Given the description of an element on the screen output the (x, y) to click on. 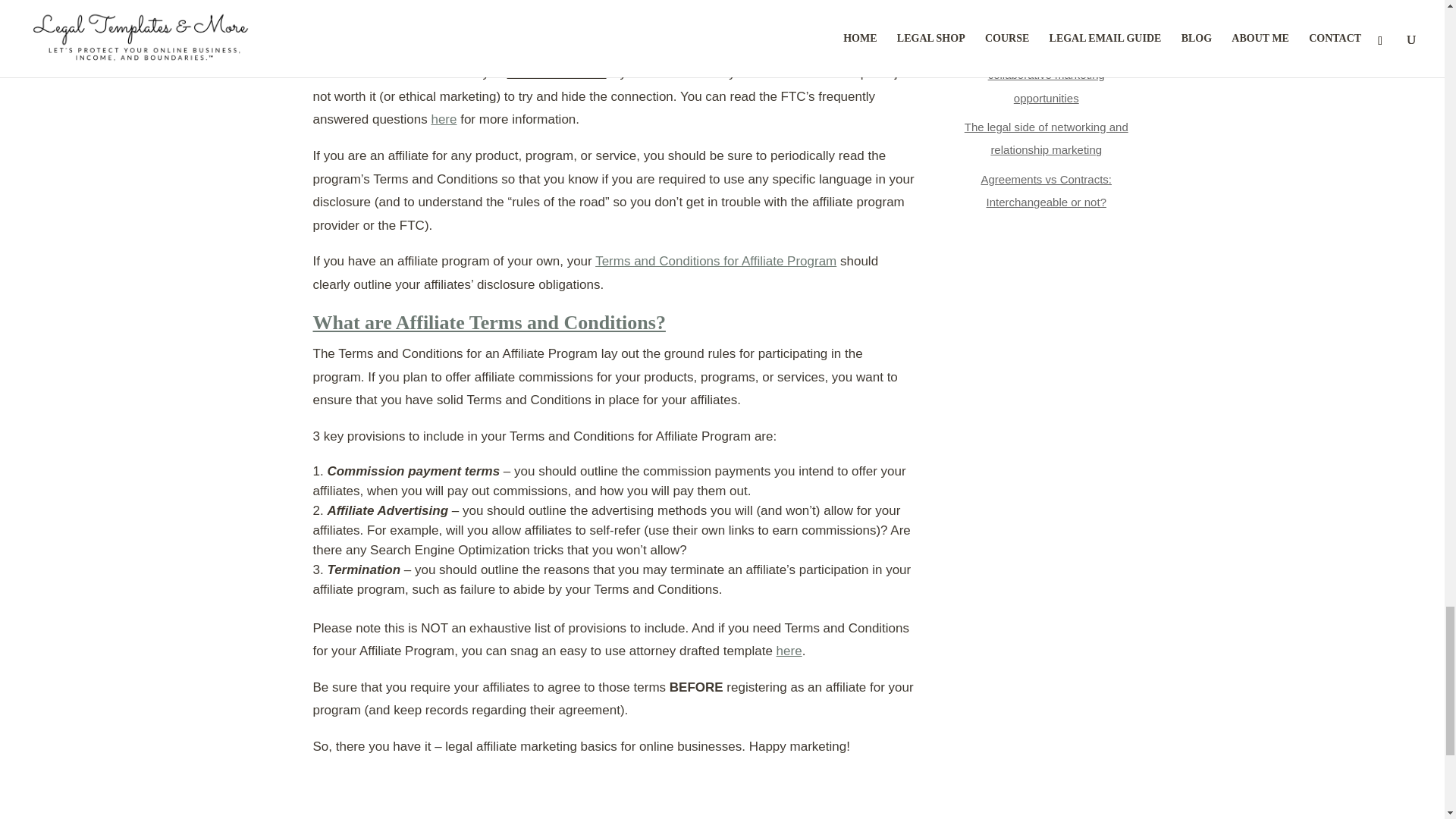
Terms and Conditions for Affiliate Program (715, 260)
here (789, 650)
here (443, 119)
